Given the description of an element on the screen output the (x, y) to click on. 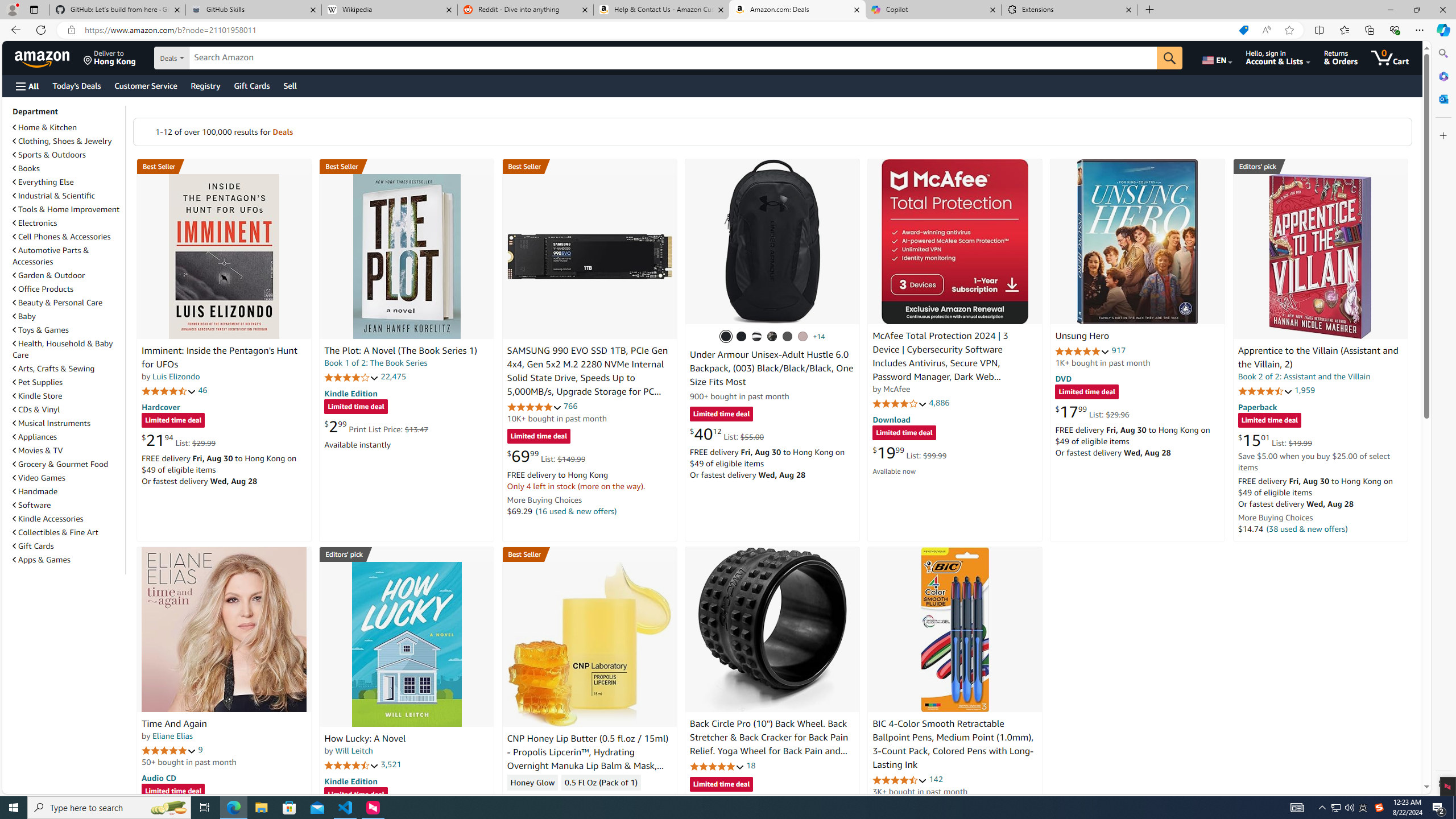
Health, Household & Baby Care (63, 349)
Garden & Outdoor (67, 274)
Hardcover (160, 406)
$21.94 List: $29.99 (178, 439)
Home & Kitchen (67, 127)
$69.99 List: $149.99 (545, 455)
Books (67, 167)
Handmade (67, 491)
Appliances (34, 436)
Clothing, Shoes & Jewelry (62, 140)
Eliane Elias (171, 735)
Arts, Crafts & Sewing (67, 368)
